Given the description of an element on the screen output the (x, y) to click on. 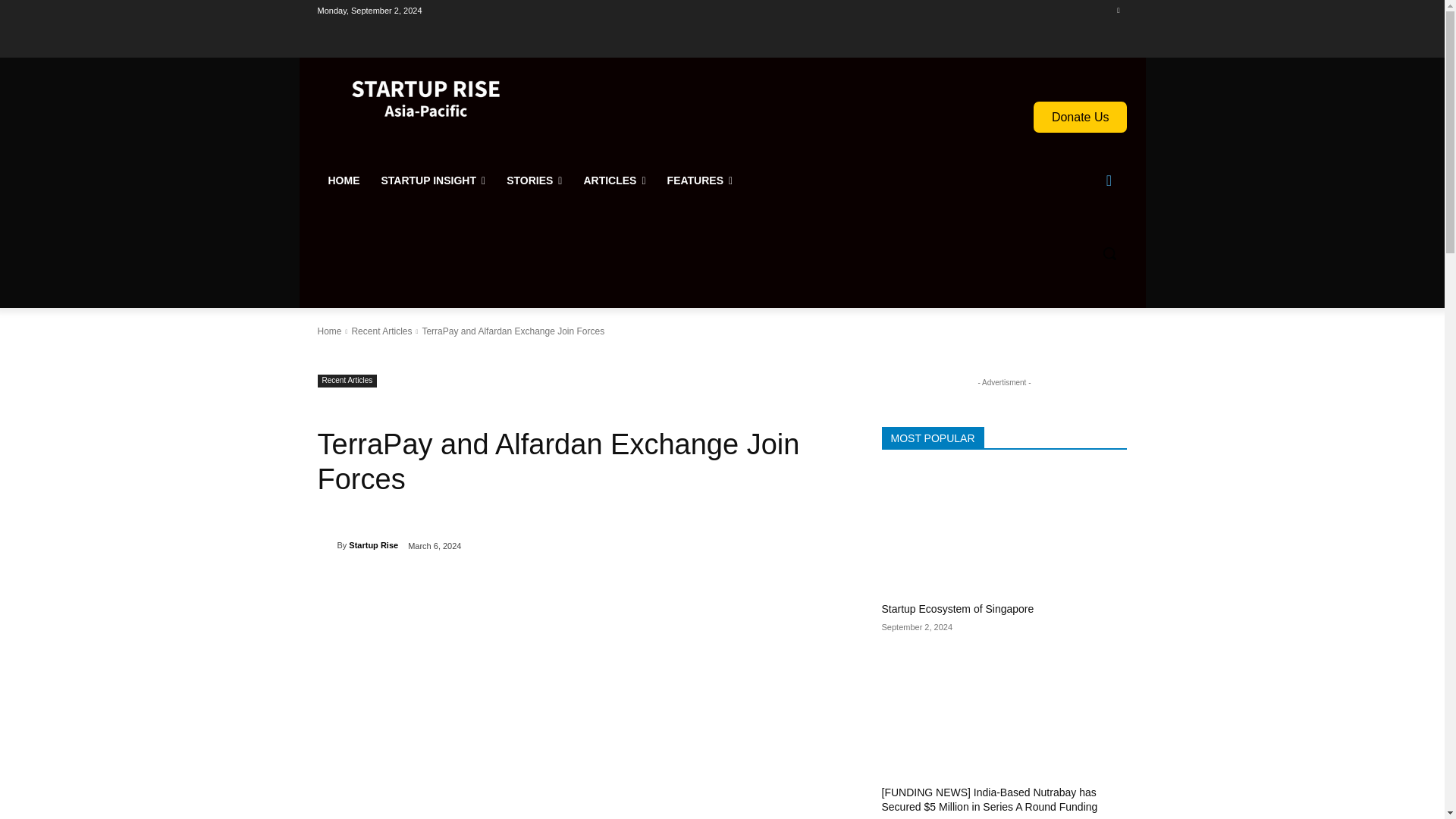
Linkedin (1117, 9)
Donate Us (1079, 116)
HOME (343, 180)
Donate Us (1079, 116)
STARTUP INSIGHT (432, 180)
STORIES (534, 180)
